Given the description of an element on the screen output the (x, y) to click on. 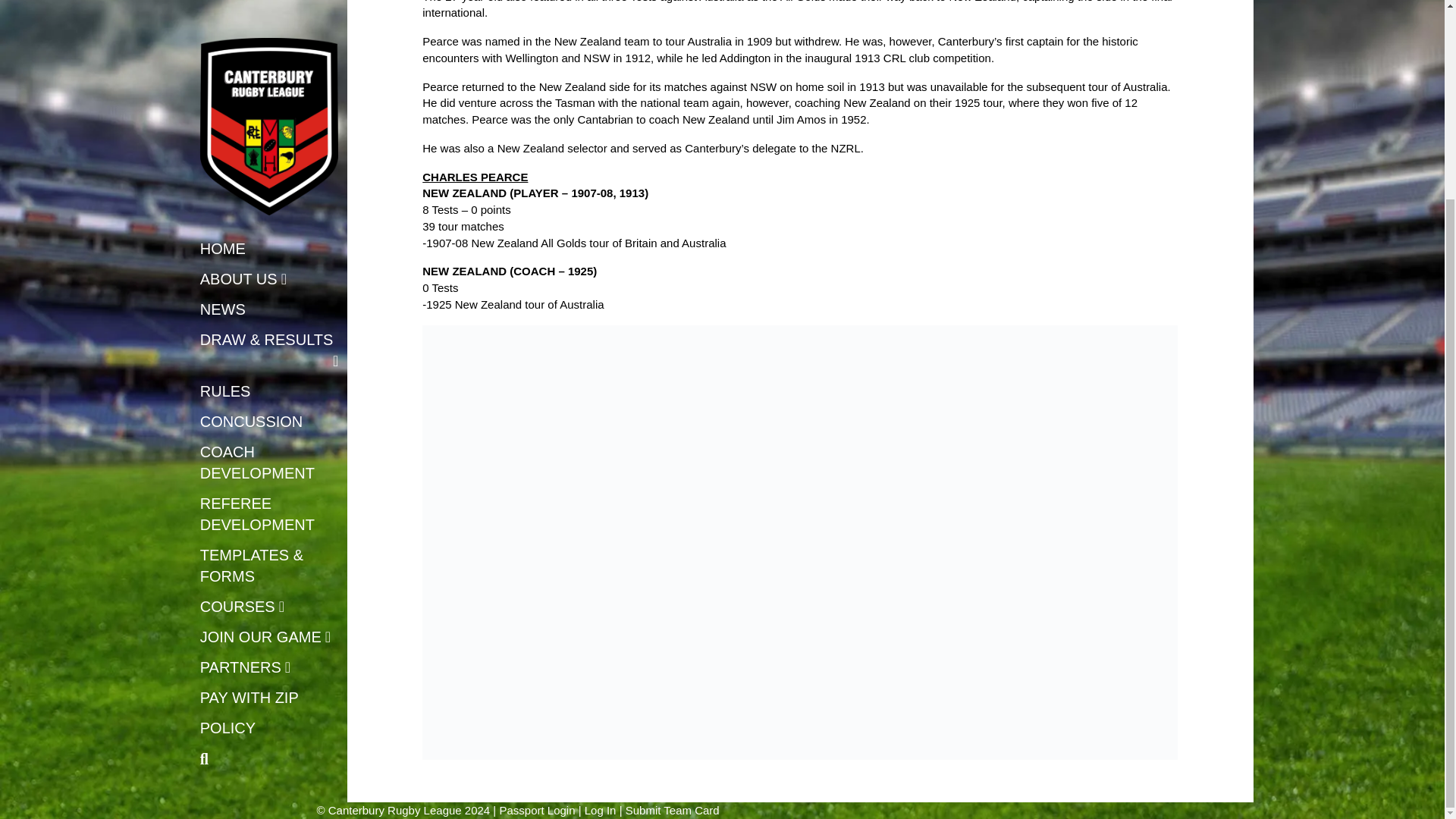
PAY WITH ZIP (249, 446)
REFEREE DEVELOPMENT (269, 262)
HOME (222, 4)
COACH DEVELOPMENT (269, 211)
Passport Login (537, 809)
NEWS (222, 57)
ABOUT US (242, 27)
JOIN OUR GAME (265, 385)
Submit Team Card (672, 809)
COURSES (242, 355)
CONCUSSION (251, 170)
Log In (600, 809)
PARTNERS (245, 415)
RULES (225, 139)
POLICY (227, 476)
